Given the description of an element on the screen output the (x, y) to click on. 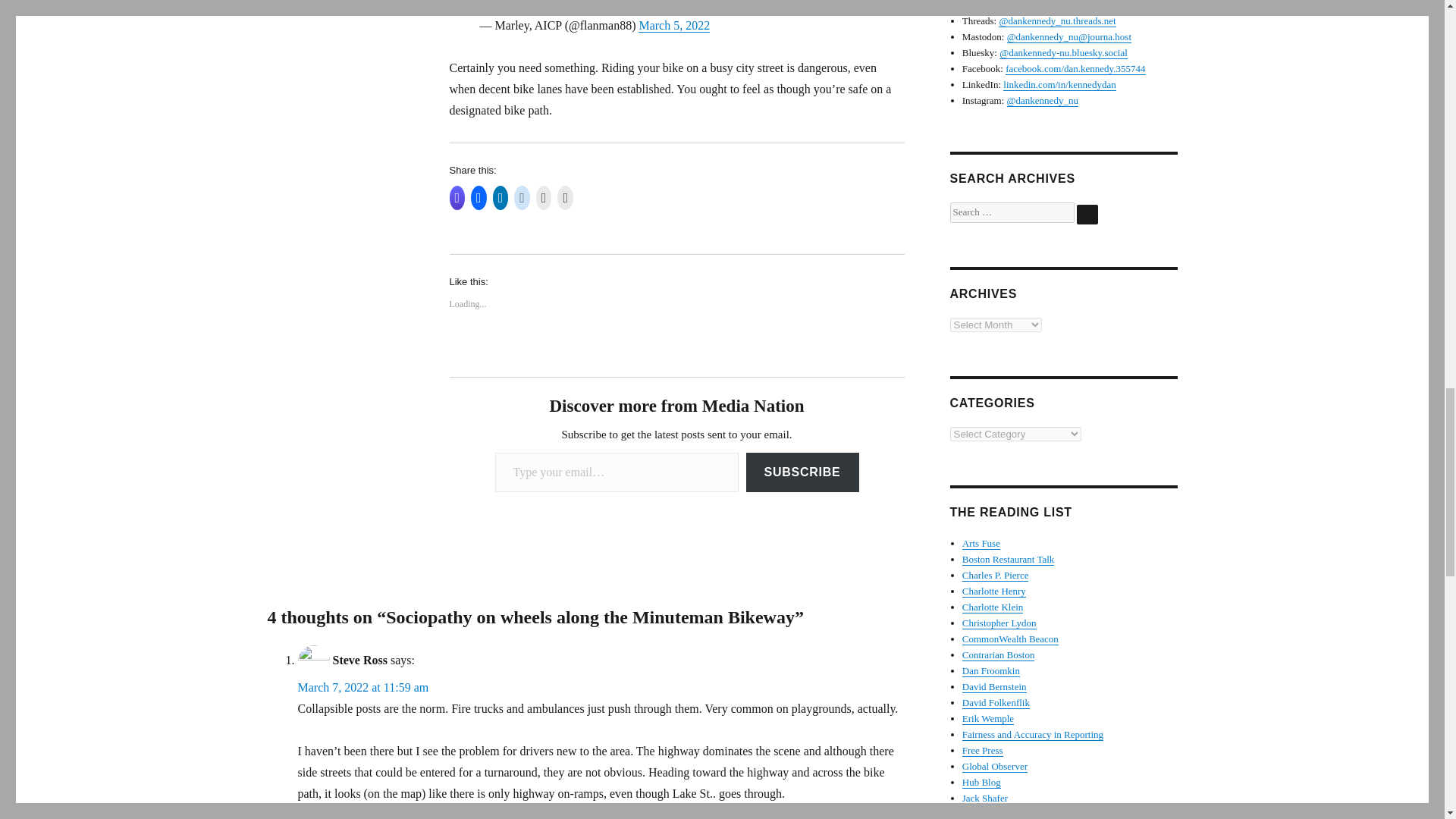
March 7, 2022 at 11:59 am (362, 686)
SUBSCRIBE (802, 472)
March 5, 2022 (674, 24)
Please fill in this field. (616, 472)
